Given the description of an element on the screen output the (x, y) to click on. 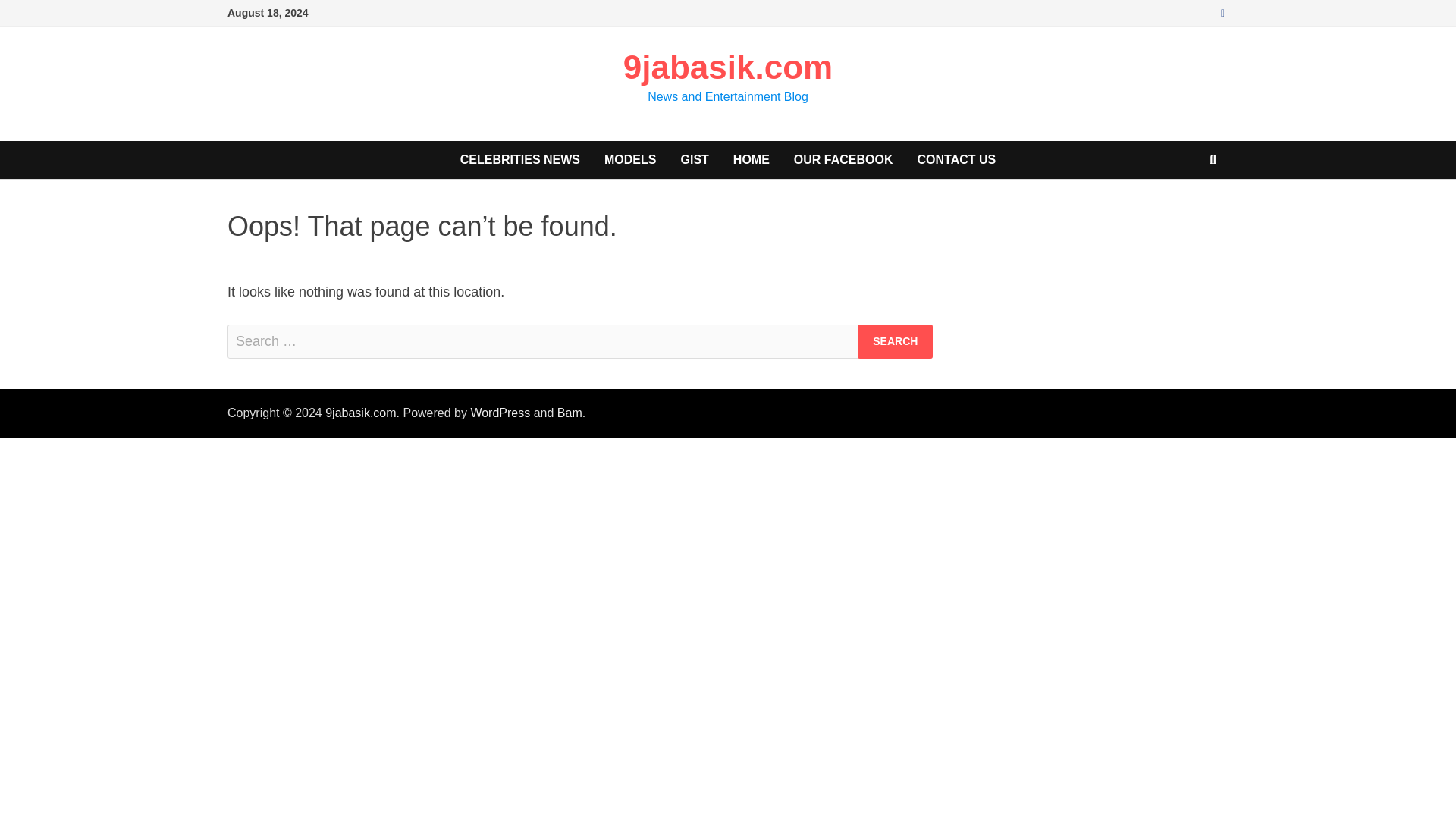
Search (895, 341)
MODELS (630, 159)
HOME (750, 159)
9jabasik.com (727, 66)
9jabasik.com (360, 412)
Search (895, 341)
CELEBRITIES NEWS (520, 159)
WordPress (499, 412)
CONTACT US (957, 159)
GIST (694, 159)
